Given the description of an element on the screen output the (x, y) to click on. 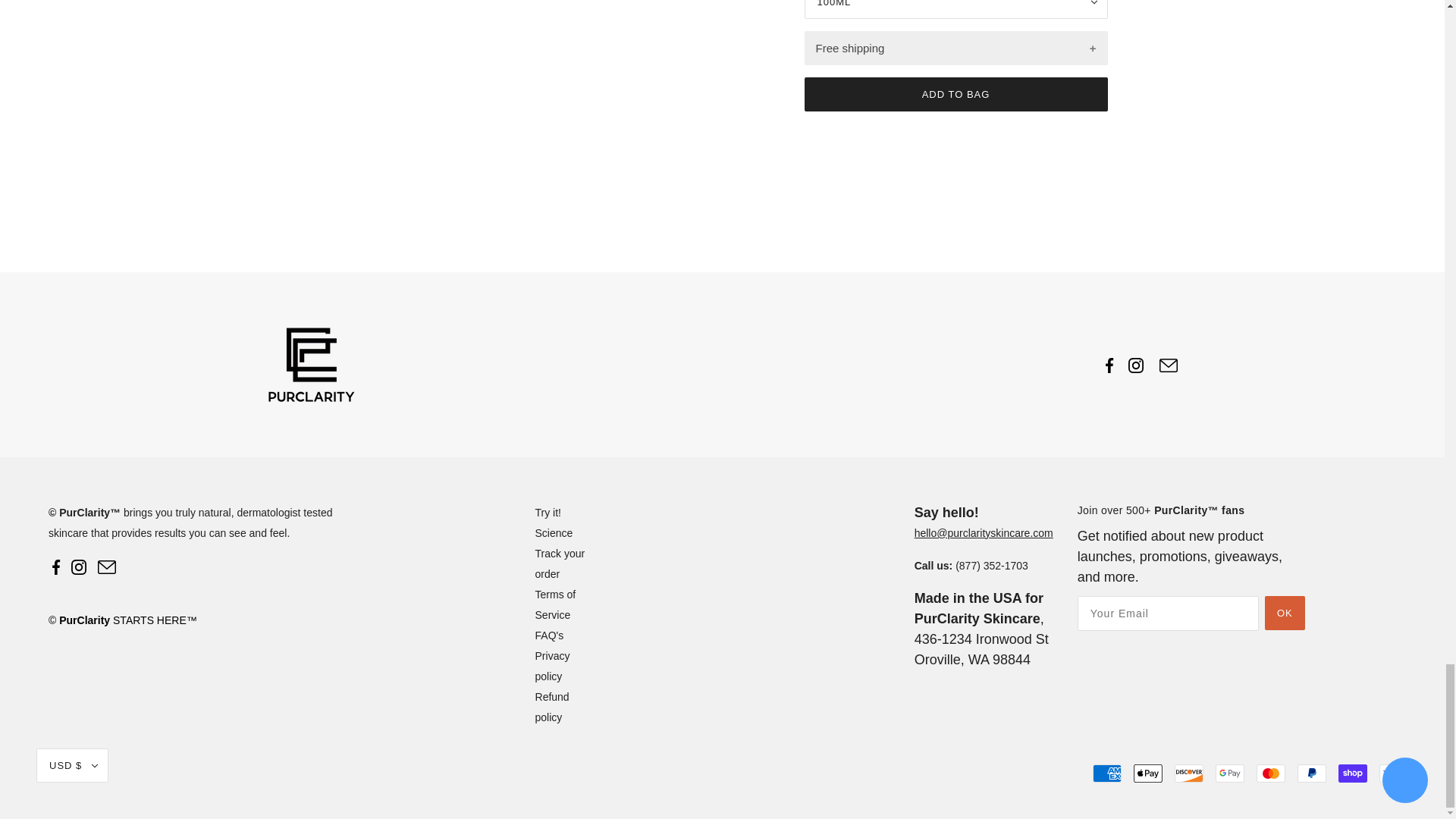
Terms of Service (555, 604)
OK (1284, 612)
Free shipping (954, 48)
Mastercard (1270, 773)
Visa (1392, 773)
Refund policy (552, 707)
Privacy policy (552, 666)
American Express (1107, 773)
PayPal (1311, 773)
Track your order (560, 563)
